Given the description of an element on the screen output the (x, y) to click on. 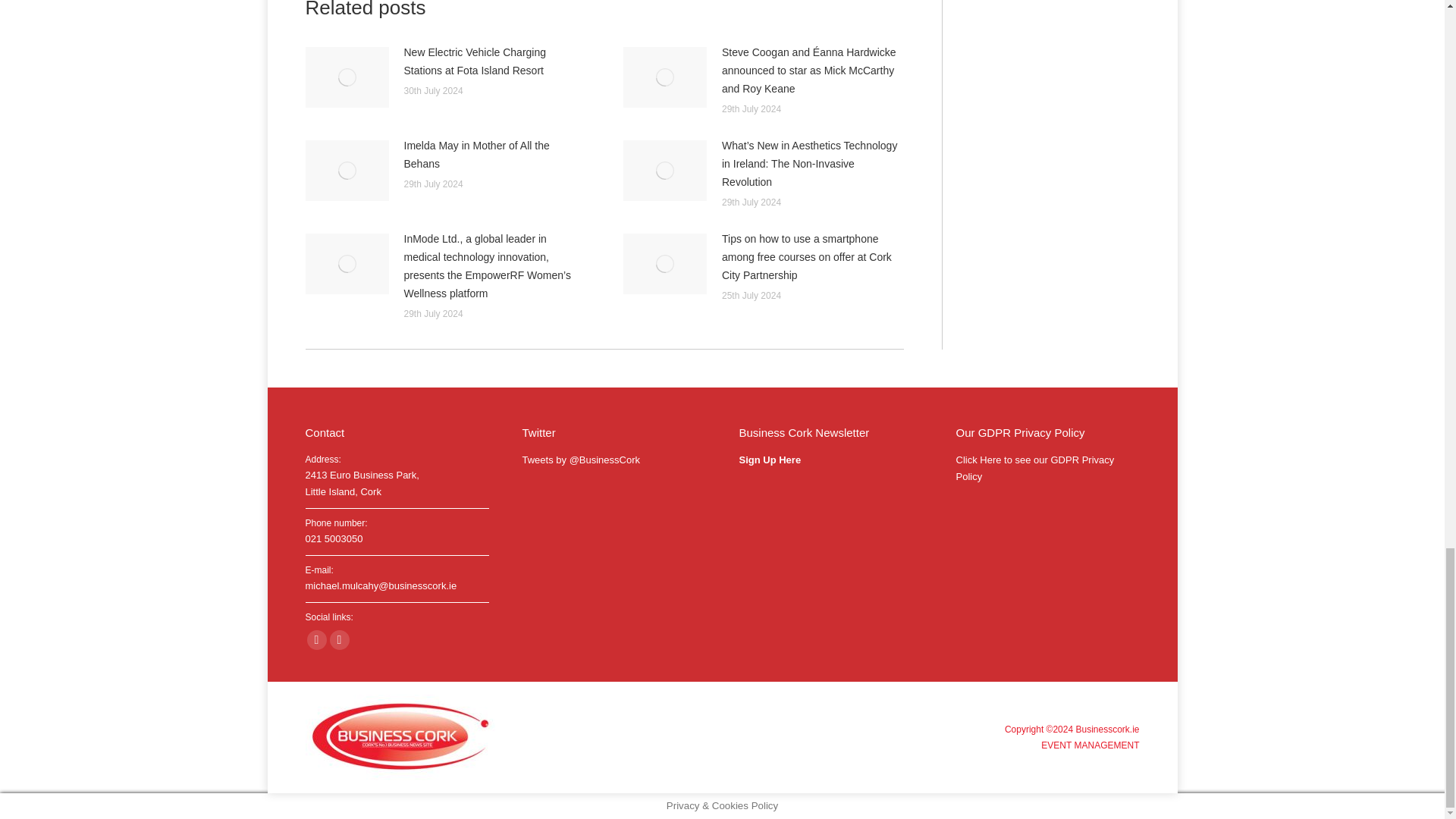
X page opens in new window (339, 639)
Imelda May in Mother of All the Behans (494, 154)
Facebook page opens in new window (315, 639)
New Electric Vehicle Charging Stations at Fota Island Resort (494, 61)
